Given the description of an element on the screen output the (x, y) to click on. 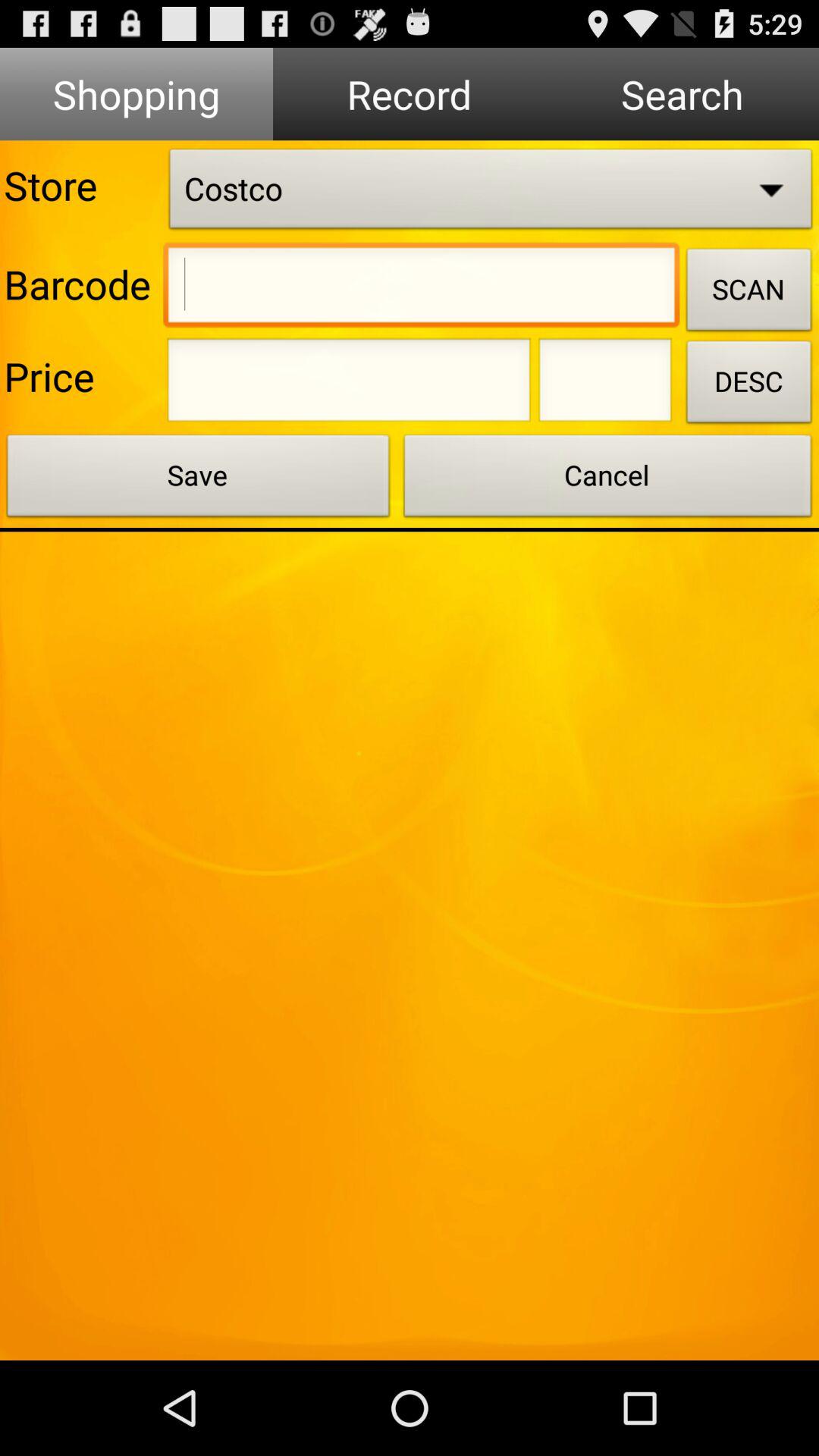
input price (348, 384)
